Given the description of an element on the screen output the (x, y) to click on. 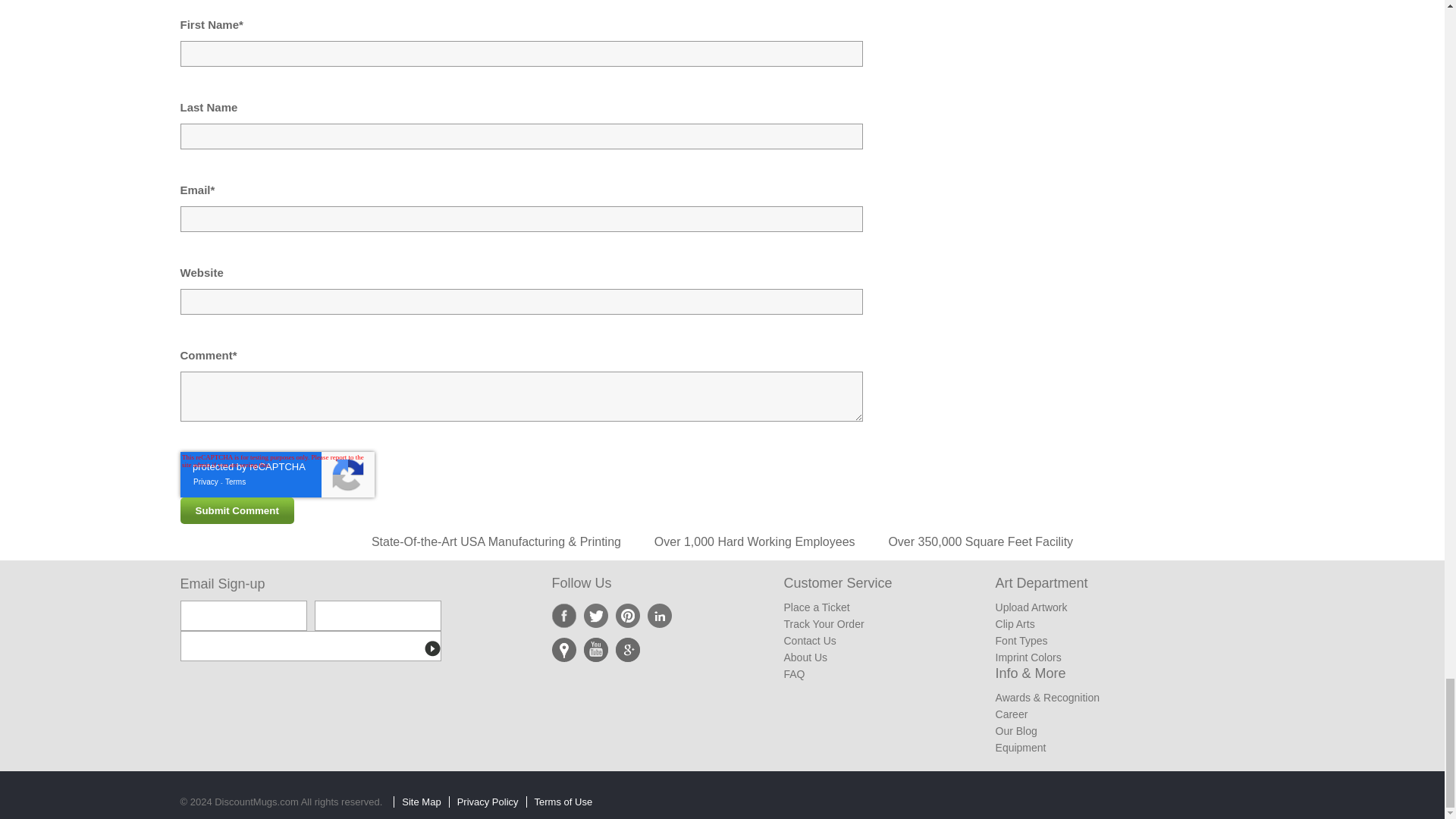
Google Plus (627, 649)
Twitter (595, 615)
Submit Comment (237, 510)
Facebook (563, 615)
Youtube (595, 649)
Google Places (563, 649)
reCAPTCHA (277, 474)
Linkedin (659, 615)
Submit (432, 648)
Pinterest (627, 615)
